Given the description of an element on the screen output the (x, y) to click on. 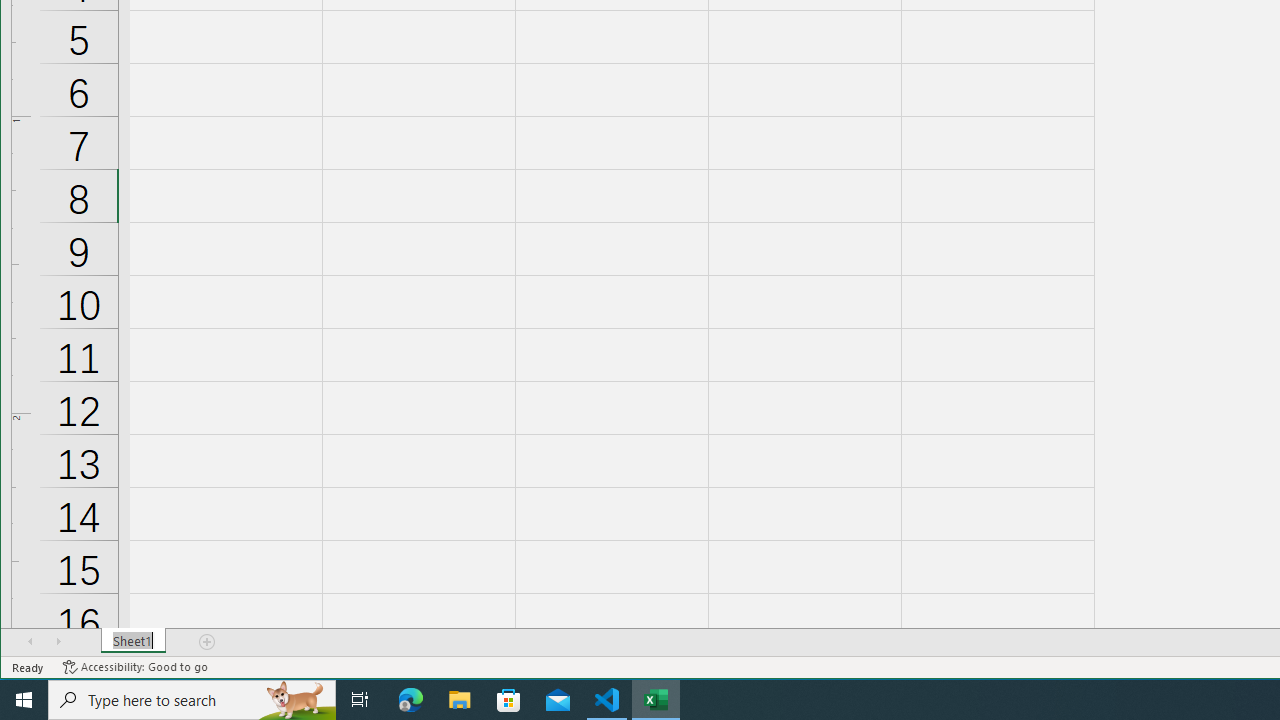
Type here to search (191, 699)
Sheet Tab (133, 641)
Excel - 1 running window (656, 699)
File Explorer (460, 699)
Visual Studio Code - 1 running window (607, 699)
Microsoft Store (509, 699)
Search highlights icon opens search home window (295, 699)
Start (24, 699)
Task View (359, 699)
